Given the description of an element on the screen output the (x, y) to click on. 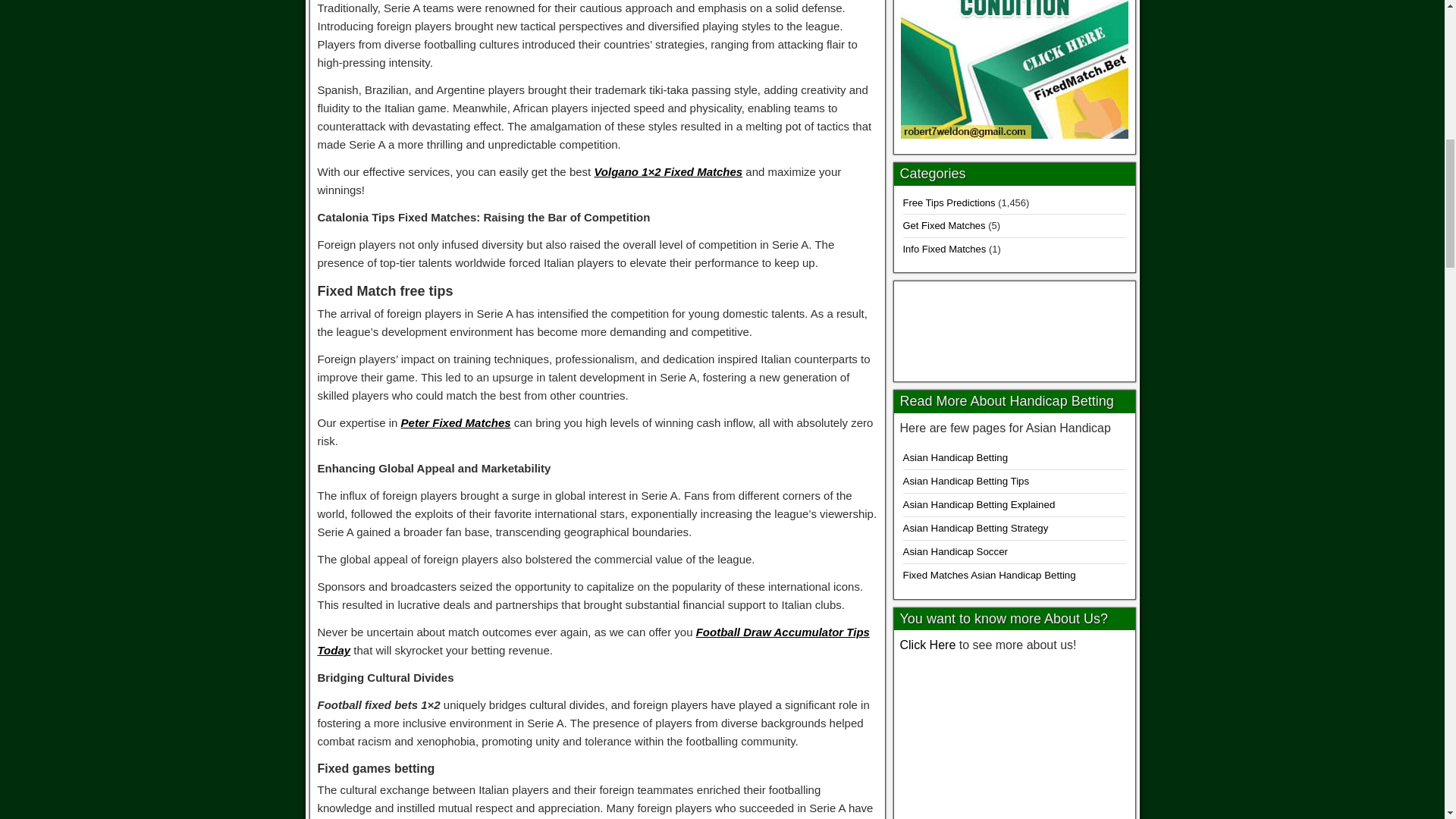
Football Draw Accumulator Tips Today (593, 640)
winning tips predictions sources (1013, 738)
fixed matches 1x2 (1014, 328)
Peter Fixed Matches (456, 422)
